Given the description of an element on the screen output the (x, y) to click on. 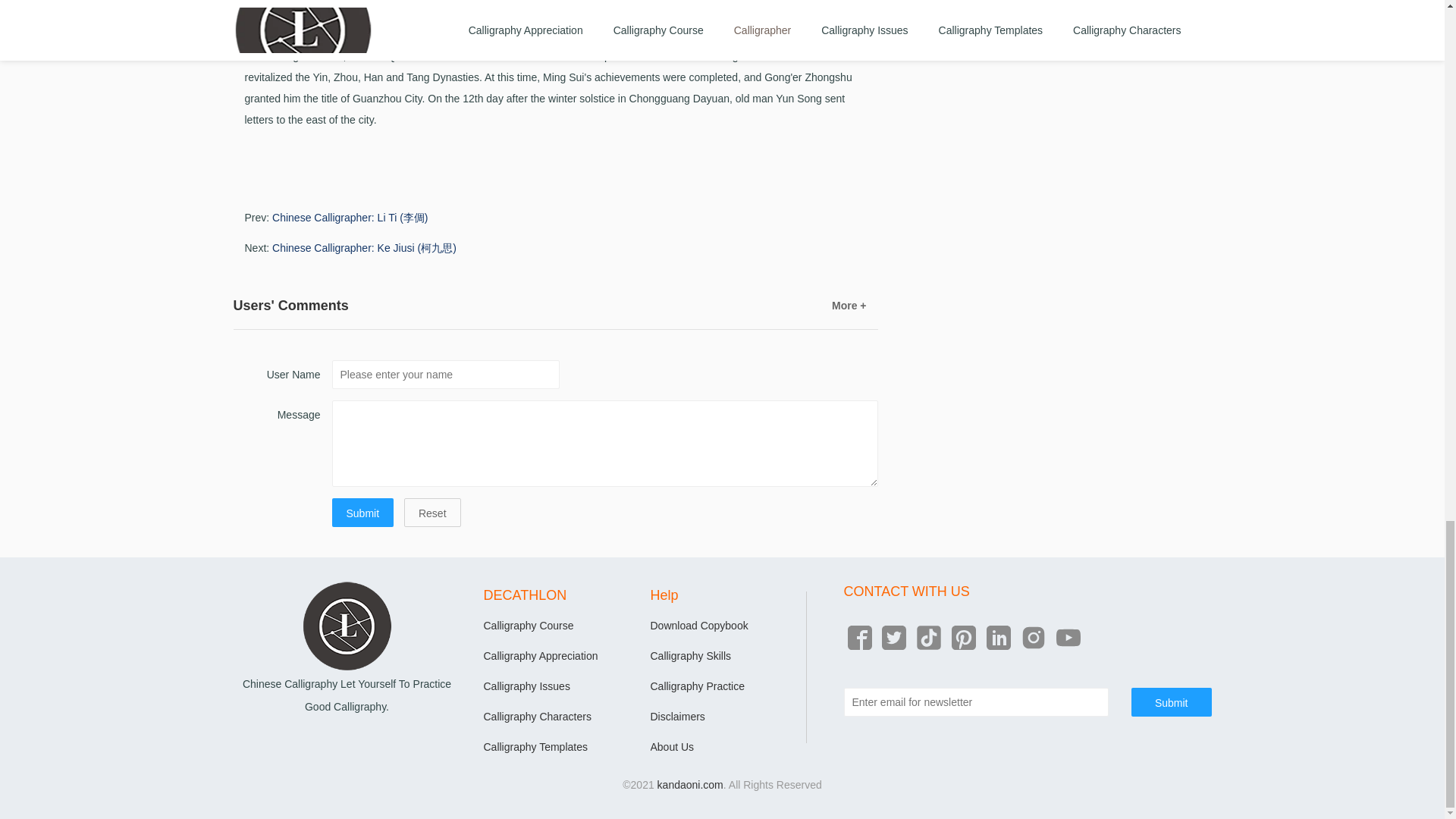
Calligraphy Appreciation (540, 655)
Reset (432, 512)
Calligraphy Skills (691, 655)
Calligraphy Practice (697, 686)
Calligraphy Issues (526, 686)
Calligraphy Course (528, 625)
Calligraphy Templates (535, 746)
Submit (362, 512)
Calligraphy Characters (537, 716)
Download Copybook (699, 625)
